Given the description of an element on the screen output the (x, y) to click on. 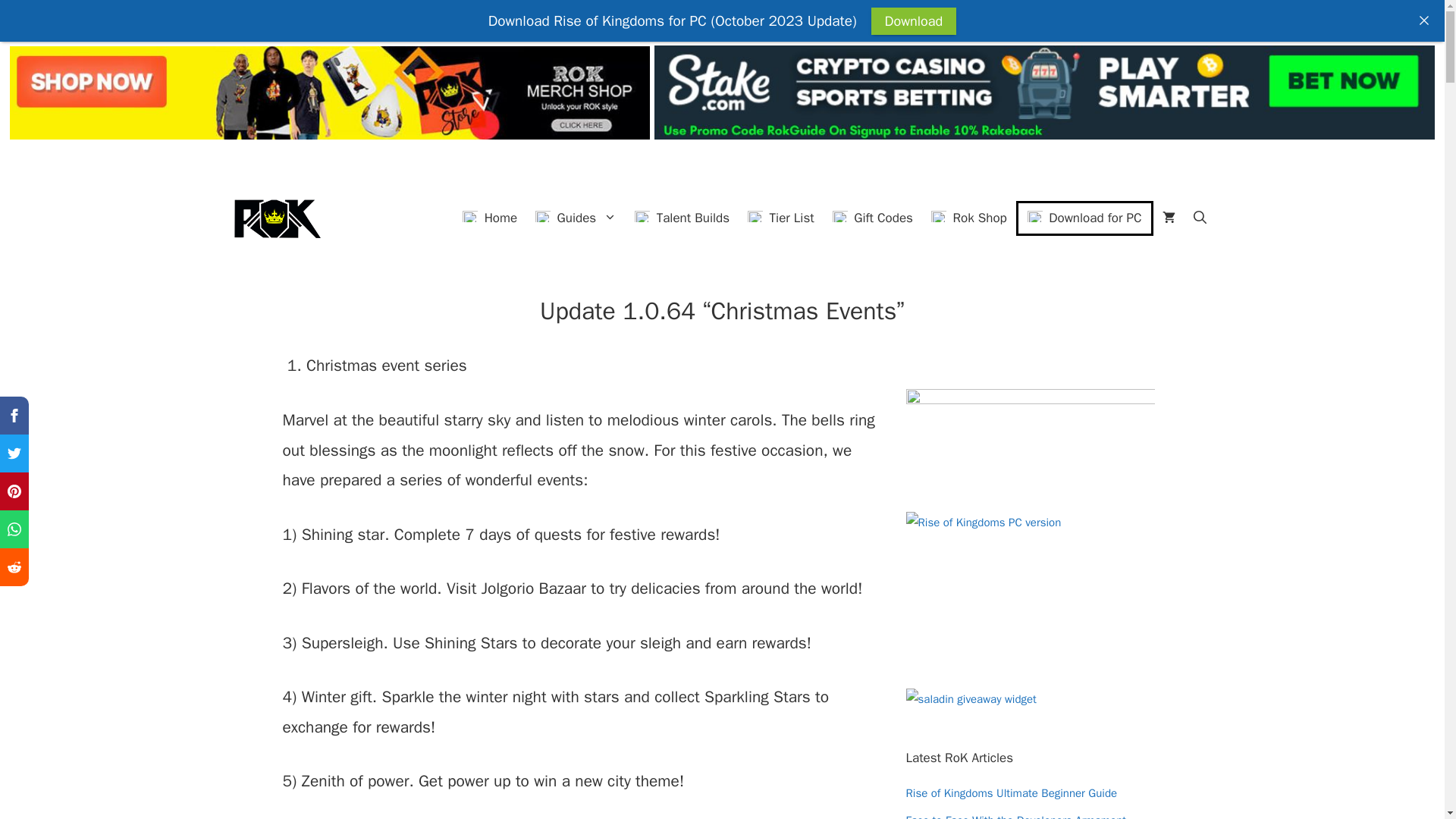
Close (1423, 20)
View your shopping cart (1168, 218)
Rise of Kingdoms (274, 218)
Home (488, 218)
Rise of Kingdoms (274, 217)
Guides (575, 218)
